Given the description of an element on the screen output the (x, y) to click on. 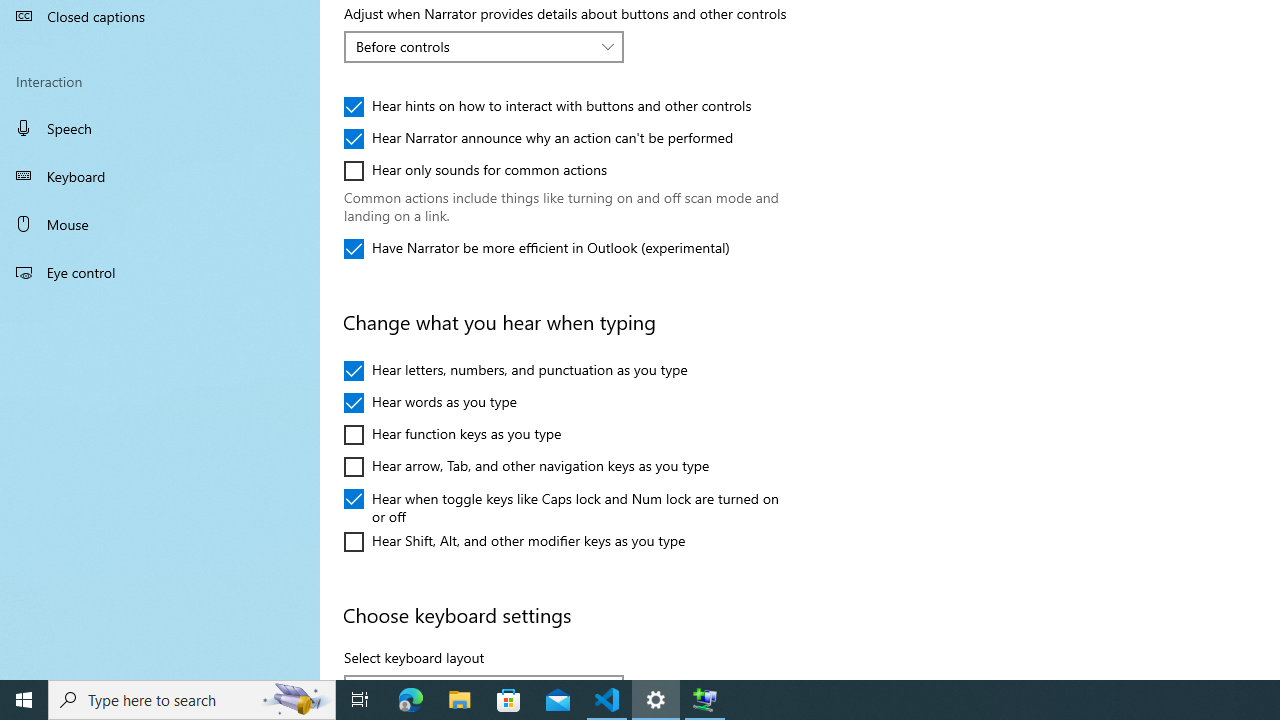
Settings - 1 running window (656, 699)
Microsoft Store (509, 699)
Hear Narrator announce why an action can't be performed (538, 138)
Hear letters, numbers, and punctuation as you type (516, 370)
Select keyboard layout (484, 676)
Visual Studio Code - 1 running window (607, 699)
Keyboard (160, 175)
Hear Shift, Alt, and other modifier keys as you type (515, 542)
Task View (359, 699)
Hear words as you type (430, 403)
Hear only sounds for common actions (476, 170)
Eye control (160, 271)
Microsoft Edge (411, 699)
Mouse (160, 223)
